Given the description of an element on the screen output the (x, y) to click on. 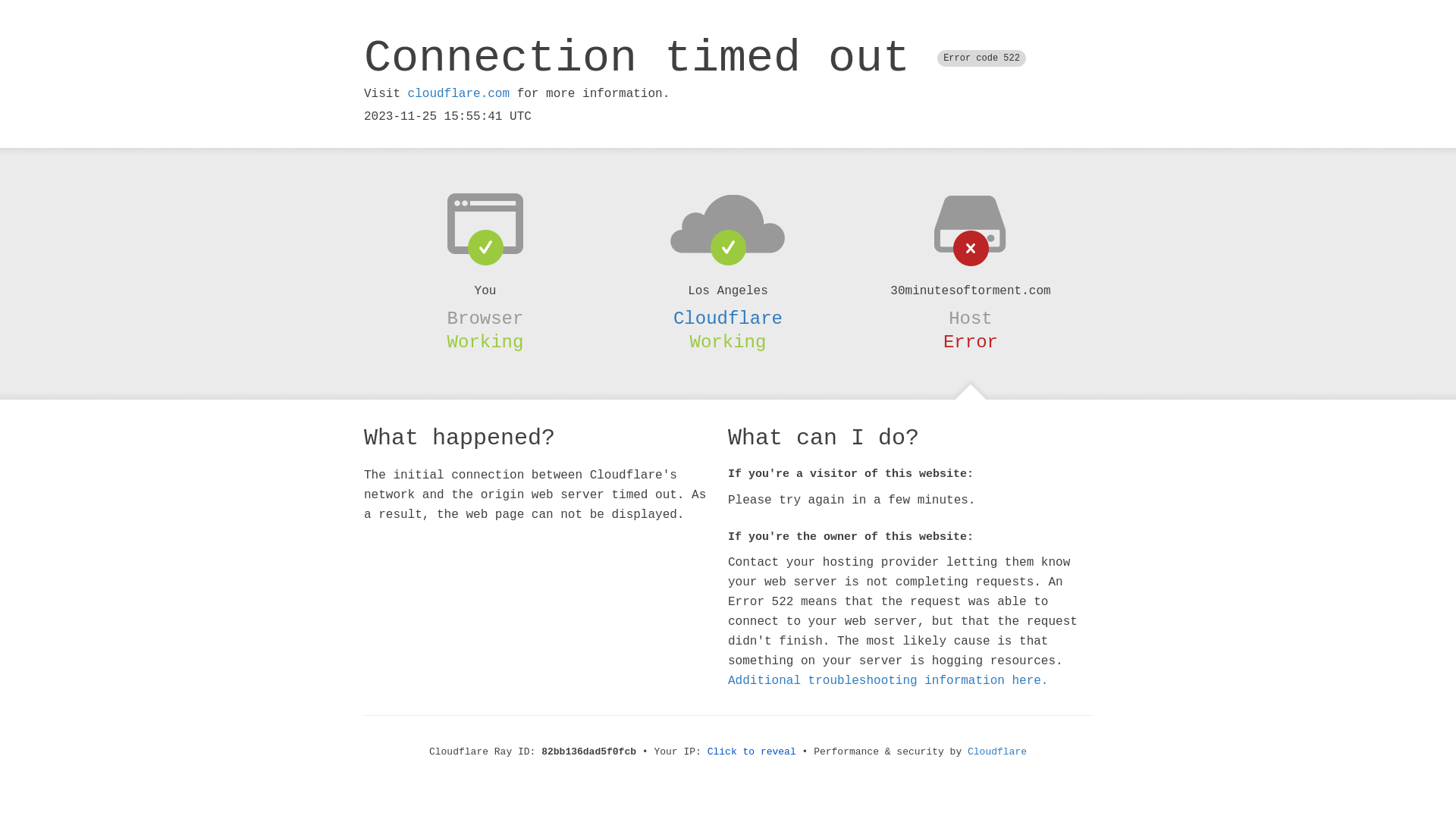
Additional troubleshooting information here. Element type: text (888, 680)
Click to reveal Element type: text (751, 751)
cloudflare.com Element type: text (458, 93)
Cloudflare Element type: text (727, 318)
Cloudflare Element type: text (996, 751)
